Given the description of an element on the screen output the (x, y) to click on. 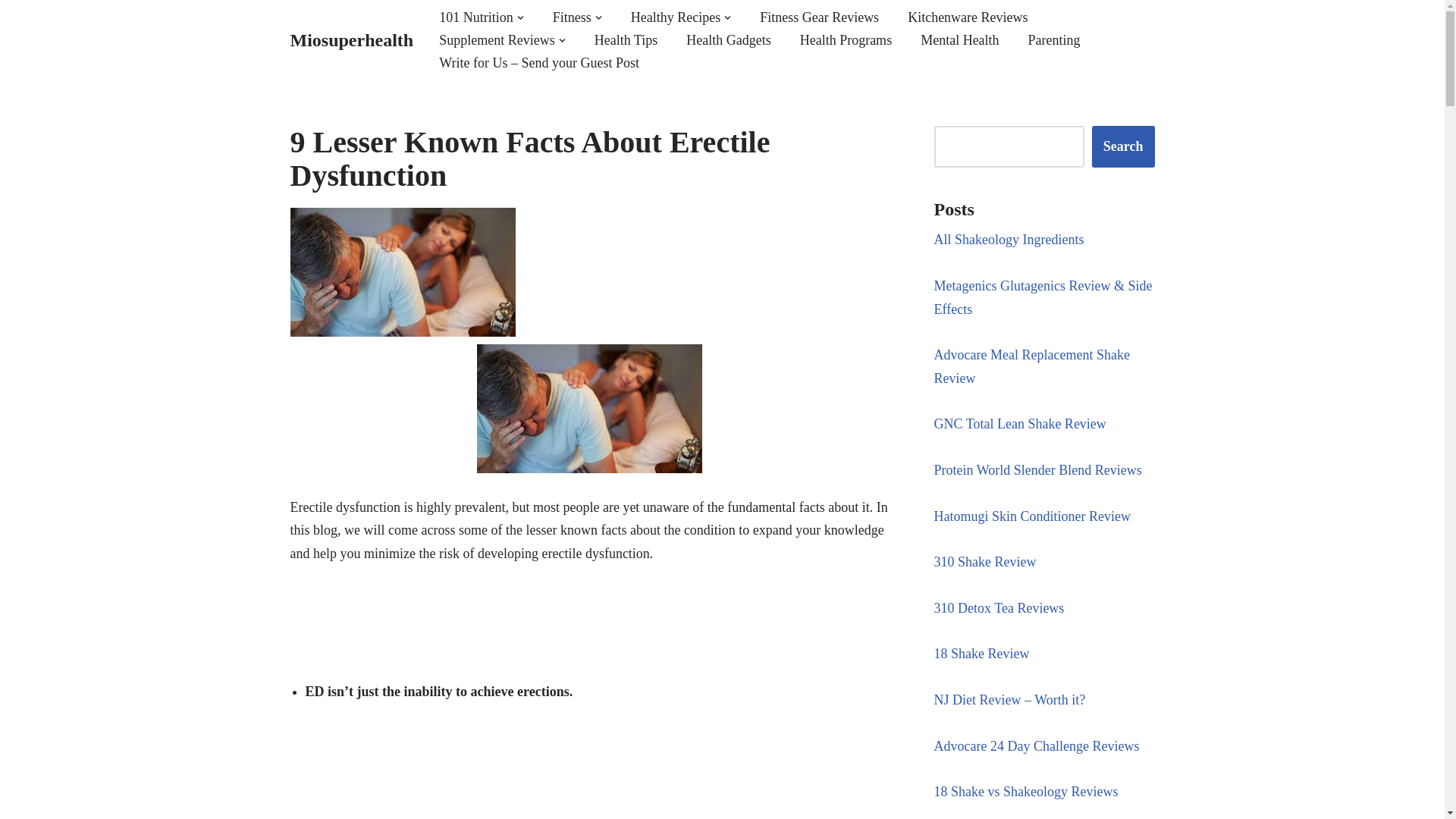
Health Programs (845, 39)
Kitchenware Reviews (967, 16)
Skip to content (11, 31)
Healthy Recipes (675, 16)
Health Tips (626, 39)
Mental Health (959, 39)
Fitness (572, 16)
Health Gadgets (727, 39)
Miosuperhealth (351, 40)
Parenting (1053, 39)
